Given the description of an element on the screen output the (x, y) to click on. 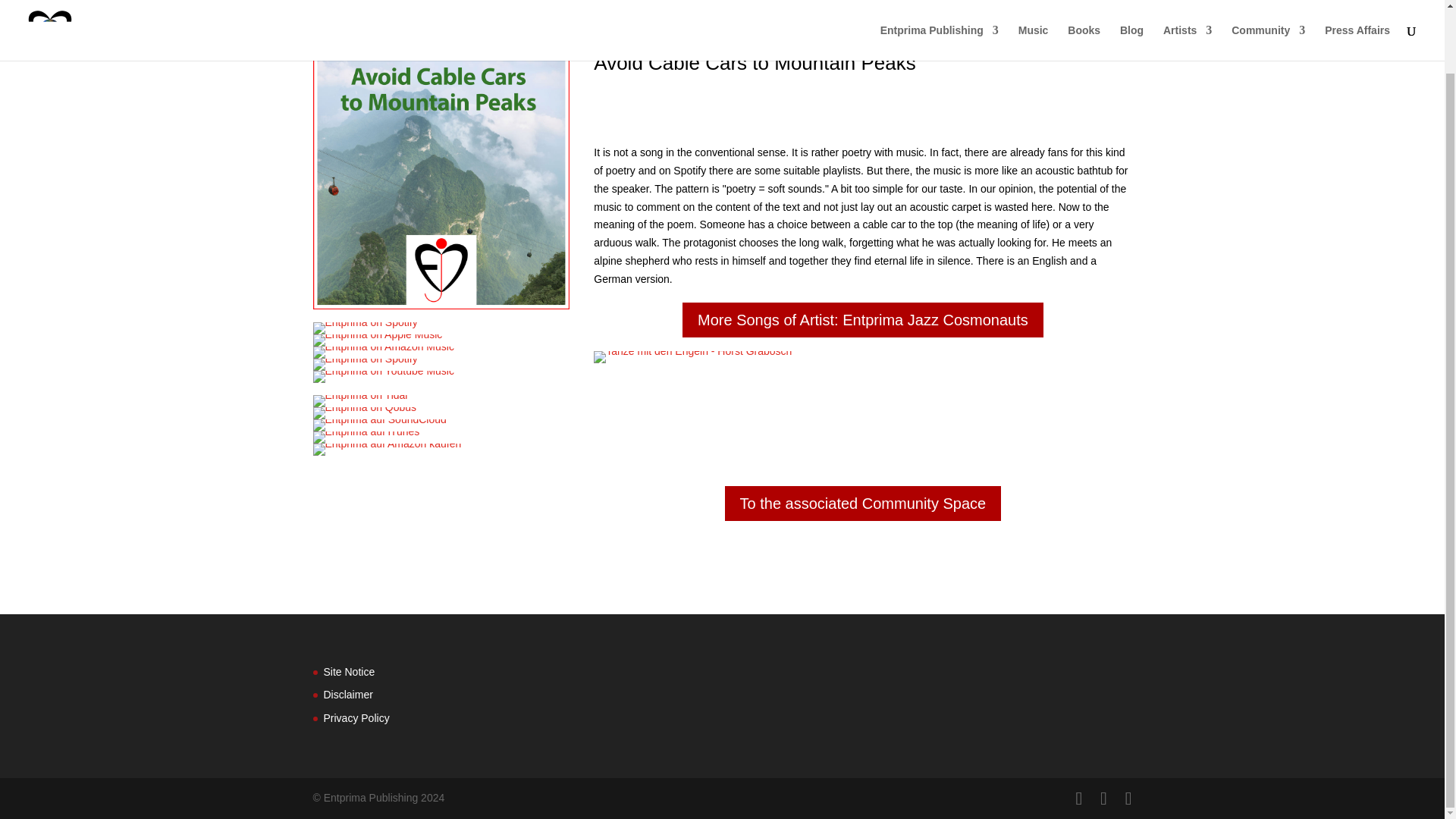
Entprima on Tidal (360, 400)
More Songs of Artist: Entprima Jazz Cosmonauts (863, 320)
Entprima on Spotify (364, 328)
Entprima on Amazon Music (382, 352)
Tanze mit den Engeln - Horst Grabosch (693, 357)
Entprima on Youtube Music (382, 377)
Site Notice (348, 671)
Privacy Policy (355, 717)
Entprima auf iTunes (366, 437)
Entprima auf SoundCloud (379, 425)
To the associated Community Space (863, 503)
Entprima on Qobus (364, 413)
Disclaimer (347, 694)
Entprima on Deezer (364, 364)
Entprima auf Amazon kaufen (387, 449)
